Given the description of an element on the screen output the (x, y) to click on. 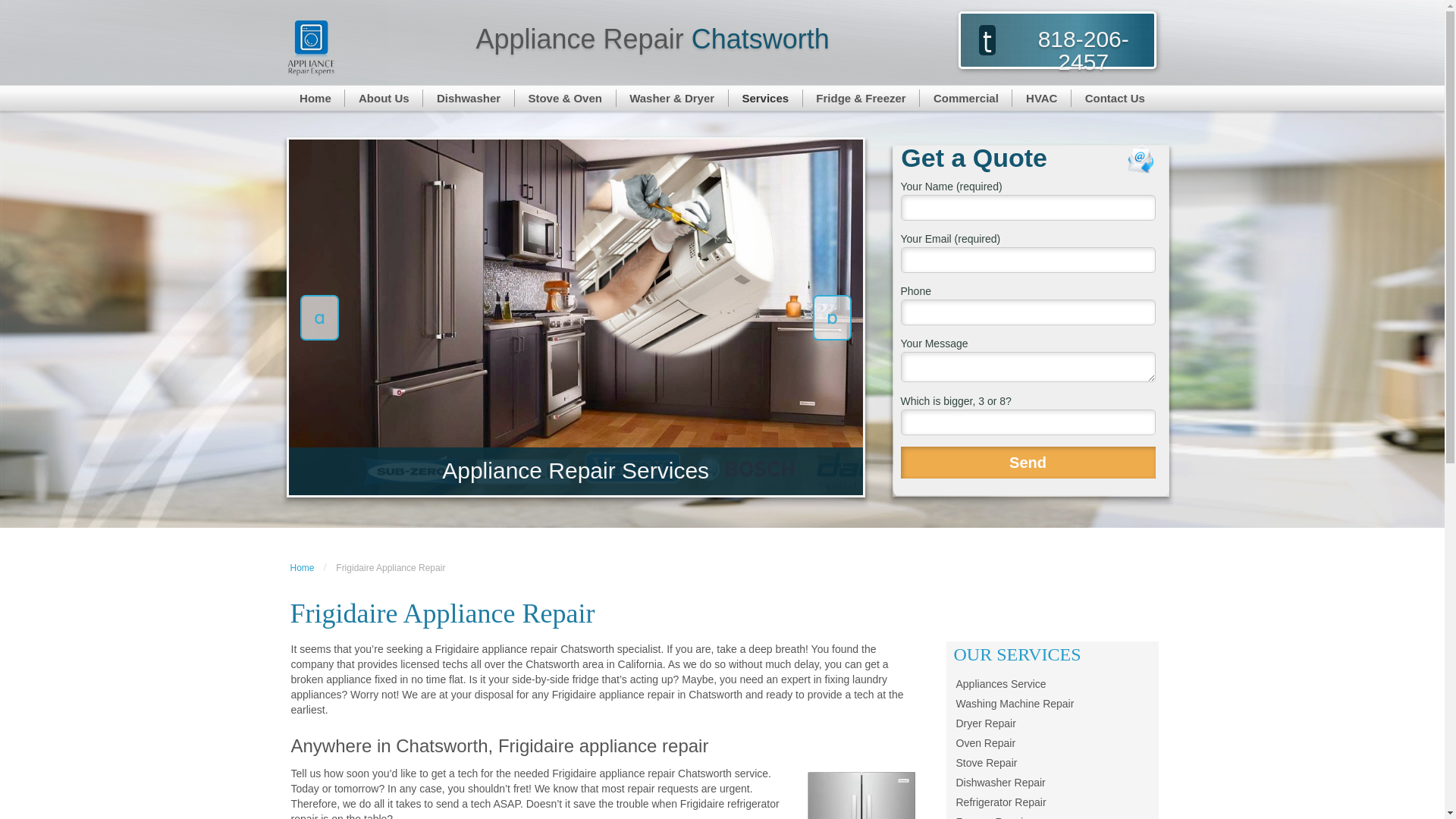
Send (1028, 462)
Home (316, 98)
818-206-2457 (1083, 50)
About Us (384, 98)
Dishwasher (468, 98)
